Given the description of an element on the screen output the (x, y) to click on. 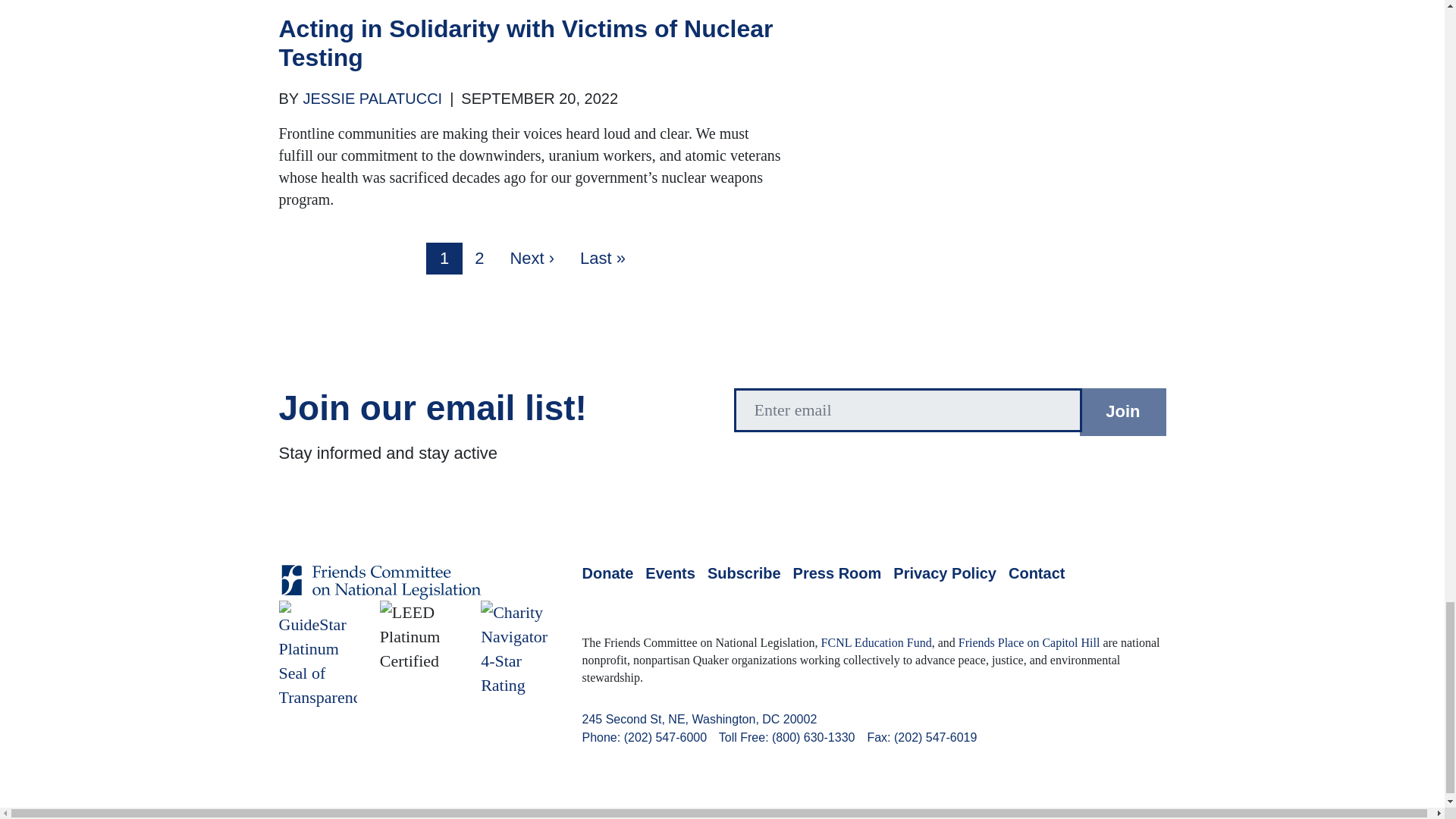
Go to page 2 (479, 258)
FCNL Home (381, 592)
Go to last page (602, 258)
Go to next page (531, 258)
Tuesday, September 20, 2022 - 12:14 (539, 98)
Current page (444, 258)
